Given the description of an element on the screen output the (x, y) to click on. 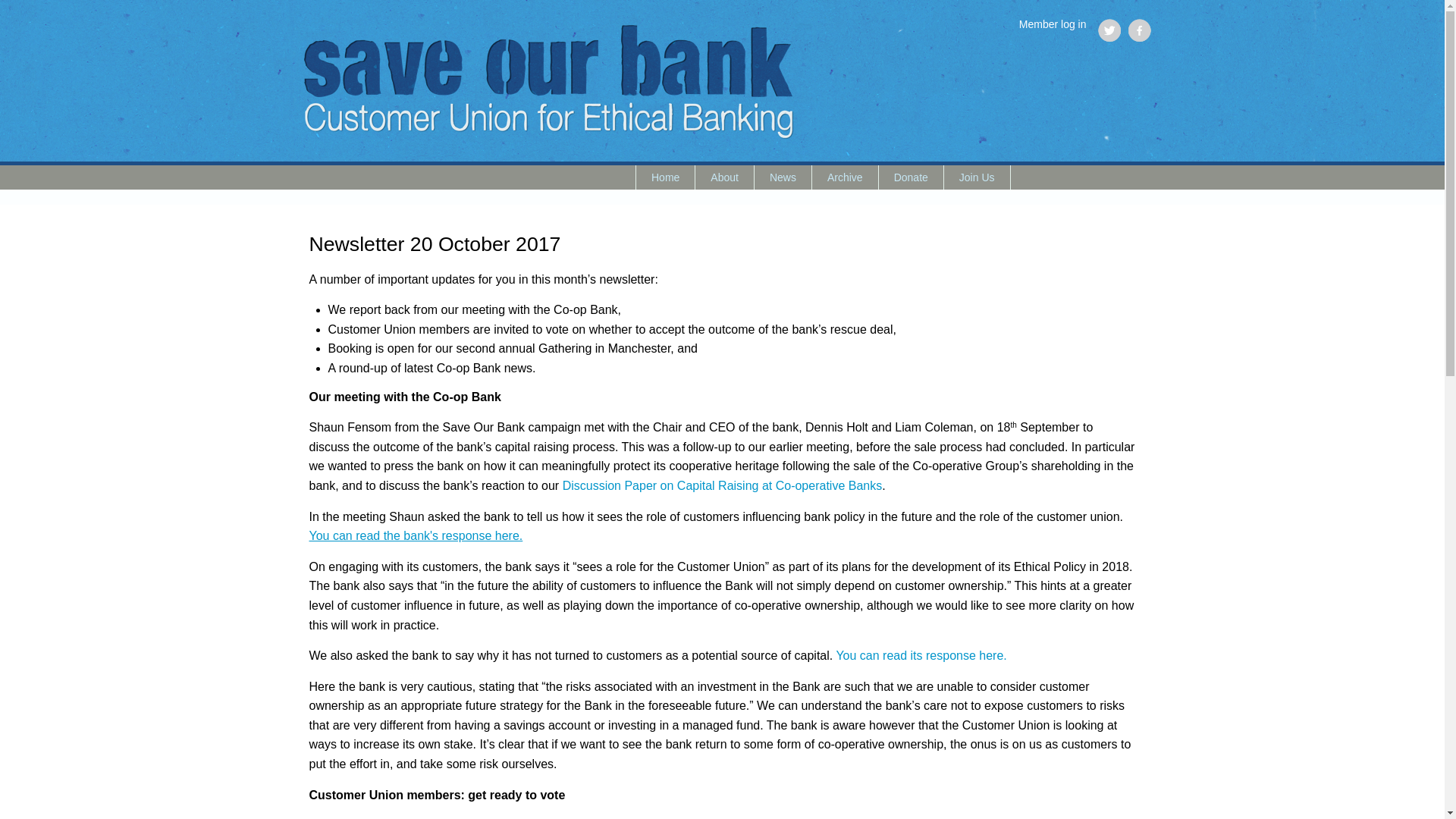
Home (665, 177)
Donate (911, 177)
You can read its response here. (920, 655)
Archive (845, 177)
Make a donation (911, 177)
News (783, 177)
About (724, 177)
Join Us (976, 177)
Past newsletters and articles (845, 177)
Join the customer union, or sign up for our newsletter (976, 177)
